Given the description of an element on the screen output the (x, y) to click on. 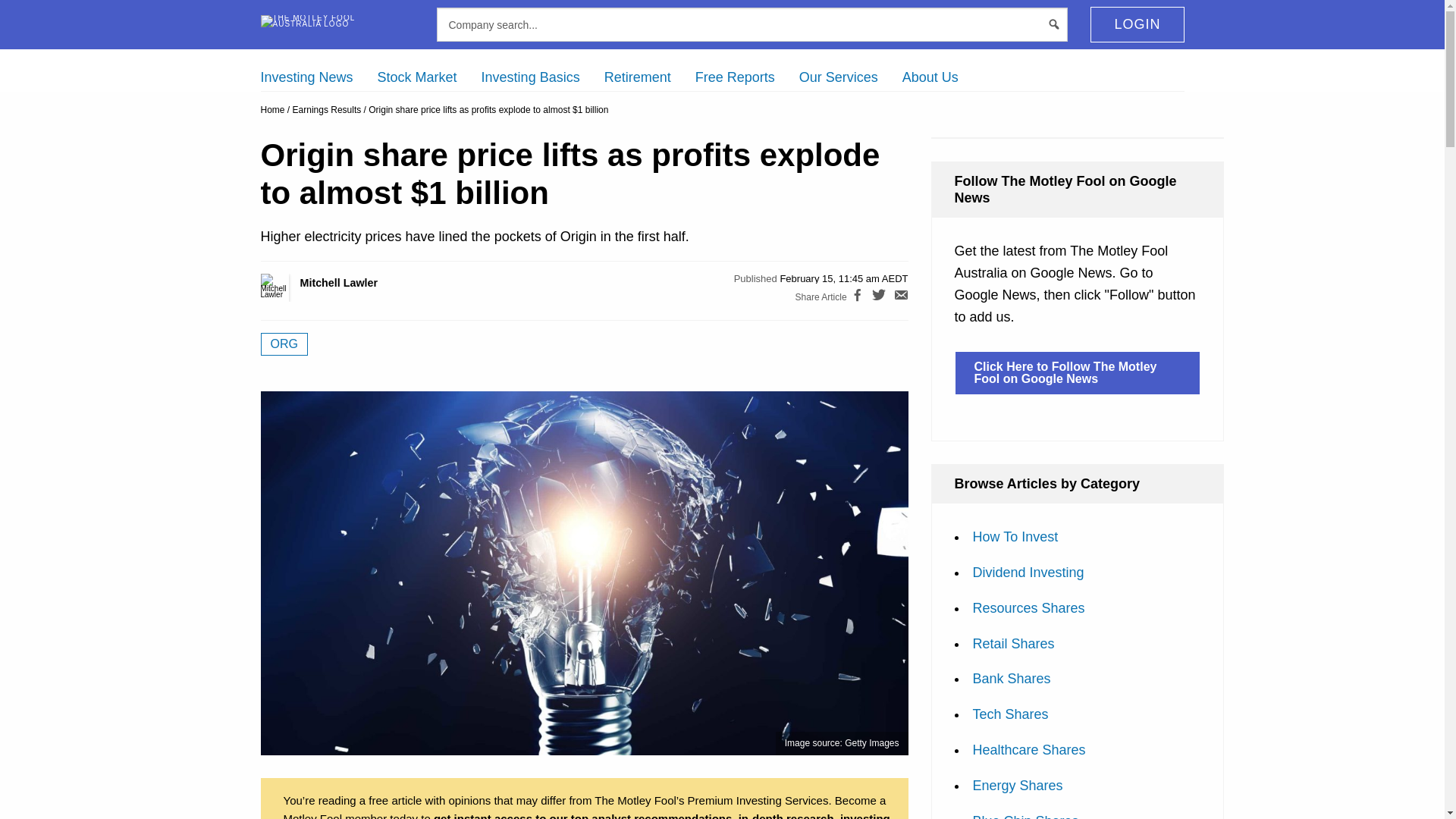
Stock Market (417, 78)
See more articles about ORG (283, 343)
Investing News (306, 78)
Mitchell Lawler (290, 287)
LOGIN (1136, 24)
